Given the description of an element on the screen output the (x, y) to click on. 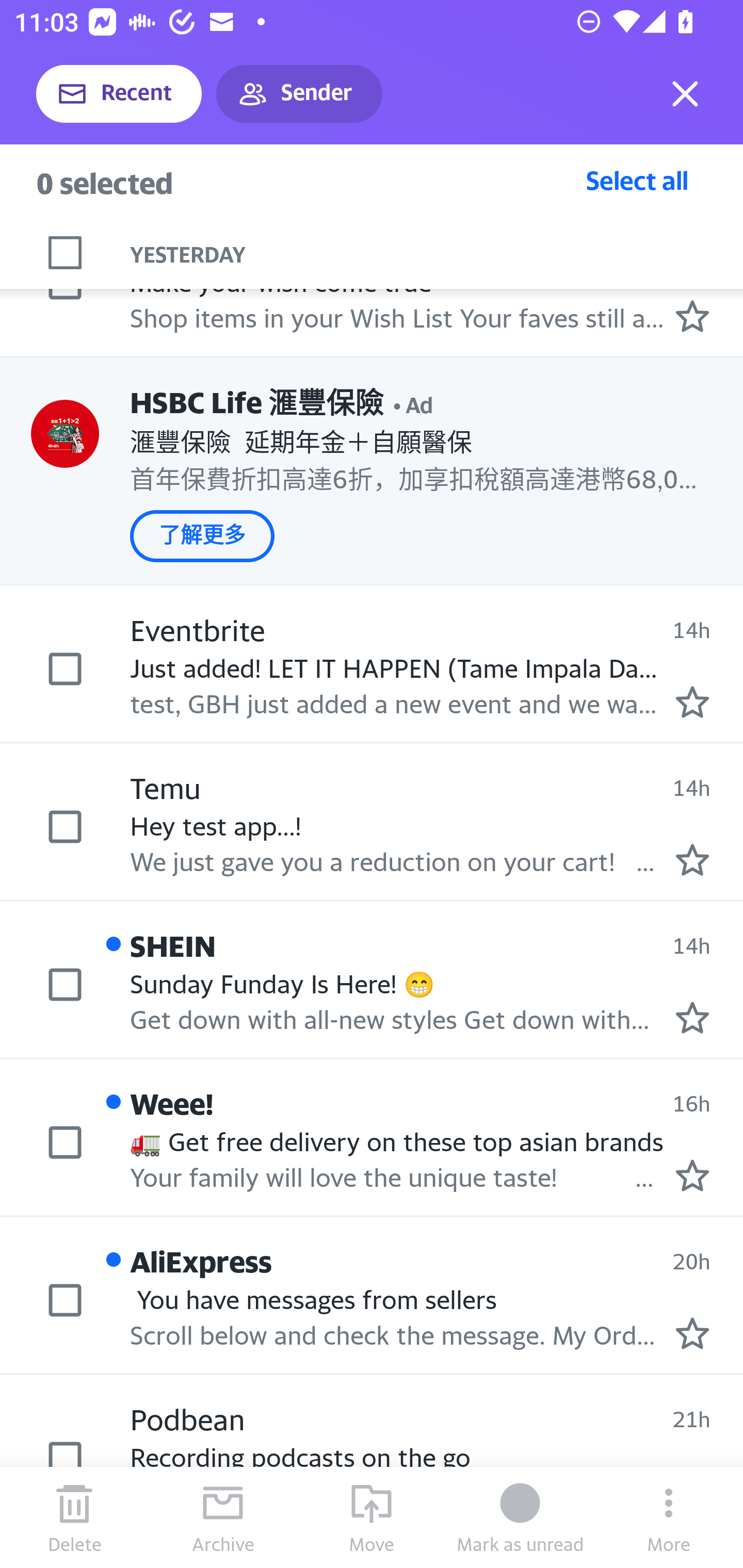
Sender (299, 93)
Exit selection mode (684, 93)
Select all (637, 180)
Mark as starred. (692, 315)
Mark as starred. (692, 701)
Mark as starred. (692, 860)
Mark as starred. (692, 1018)
Mark as starred. (692, 1175)
Mark as starred. (692, 1333)
Delete (74, 1517)
Archive (222, 1517)
Move (371, 1517)
Mark as unread (519, 1517)
More (668, 1517)
